Given the description of an element on the screen output the (x, y) to click on. 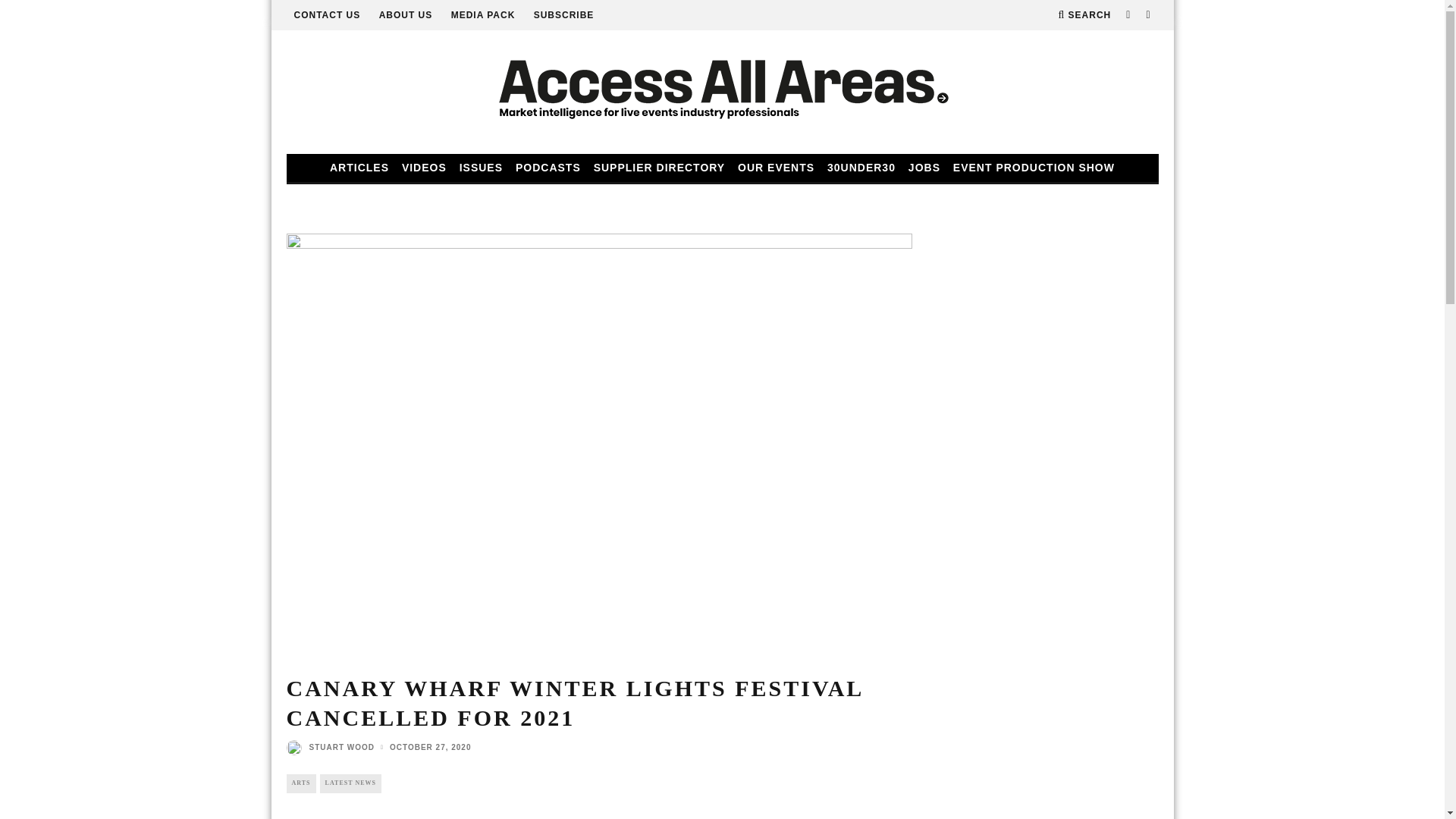
ABOUT US (405, 15)
Log In (721, 413)
CONTACT US (327, 15)
Search (1084, 15)
View all posts in Latest News (350, 782)
View all posts in Arts (300, 782)
ARTICLES (358, 167)
VIDEOS (424, 167)
MEDIA PACK (483, 15)
SEARCH (1084, 15)
SUBSCRIBE (564, 15)
